Given the description of an element on the screen output the (x, y) to click on. 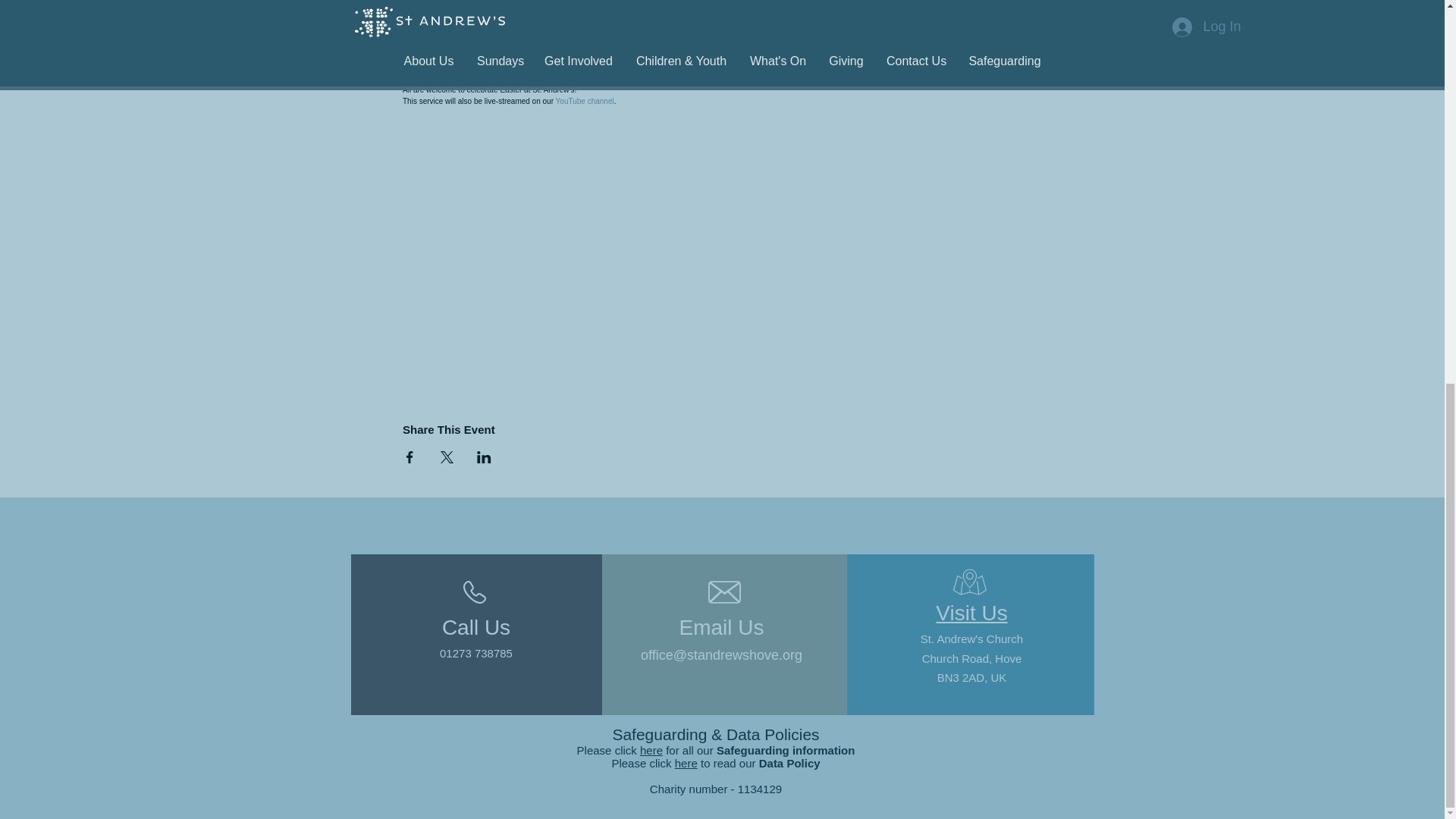
Email Us (720, 627)
here (651, 749)
Visit Us (971, 612)
Call Us (476, 627)
YouTube channel (585, 101)
01273 738785 (475, 653)
